Given the description of an element on the screen output the (x, y) to click on. 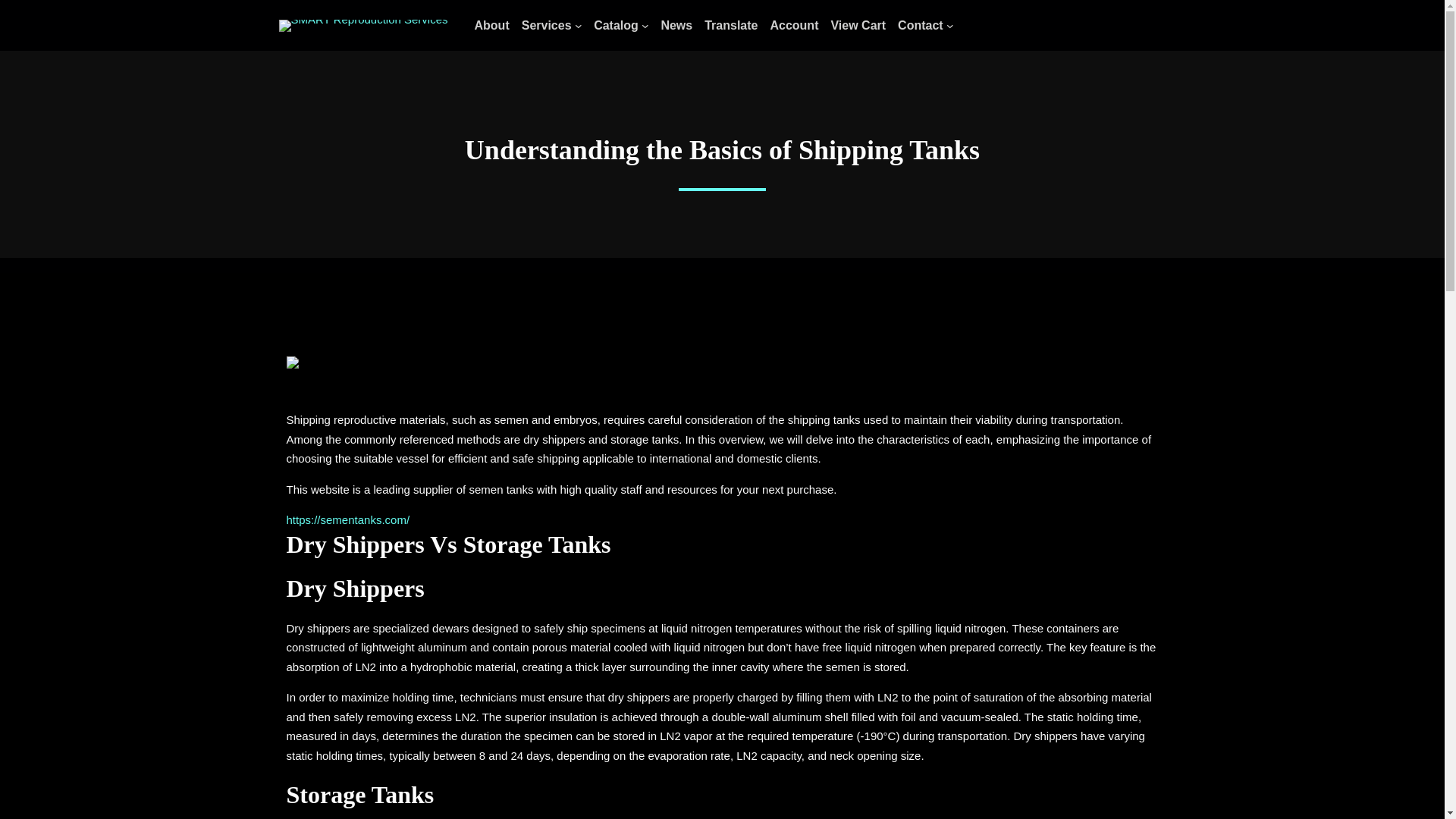
News (677, 25)
About (491, 25)
Services (546, 25)
Translate (730, 25)
Contact (920, 25)
Catalog (616, 25)
View Cart (857, 25)
Account (794, 25)
